Given the description of an element on the screen output the (x, y) to click on. 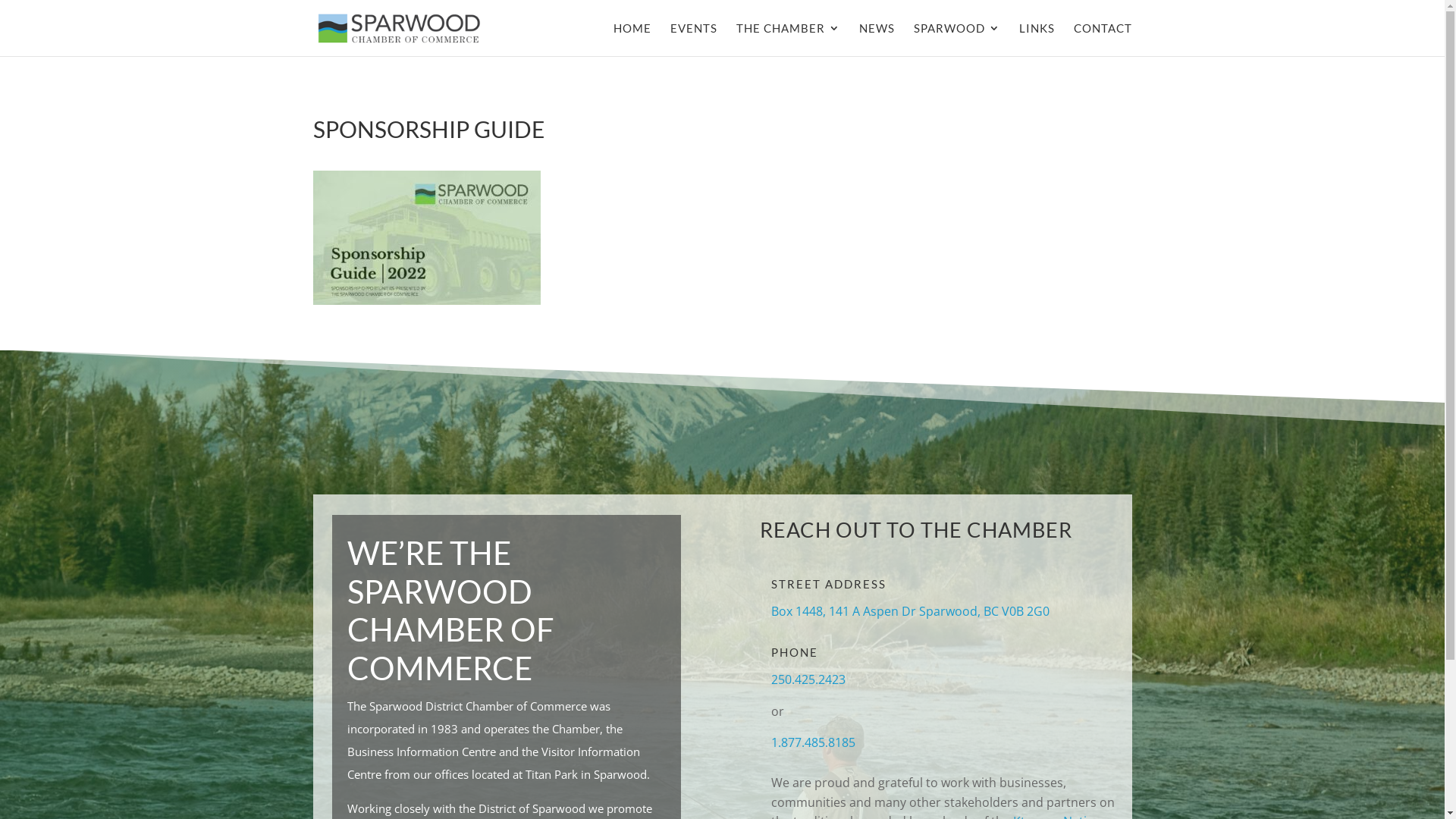
HOME Element type: text (631, 39)
CONTACT Element type: text (1102, 39)
250.425.2423 Element type: text (808, 679)
1.877.485.8185 Element type: text (813, 742)
LINKS Element type: text (1036, 39)
Box 1448, 141 A Aspen Dr Sparwood, BC V0B 2G0 Element type: text (910, 610)
EVENTS Element type: text (693, 39)
SPARWOOD Element type: text (956, 39)
NEWS Element type: text (876, 39)
THE CHAMBER Element type: text (787, 39)
